Given the description of an element on the screen output the (x, y) to click on. 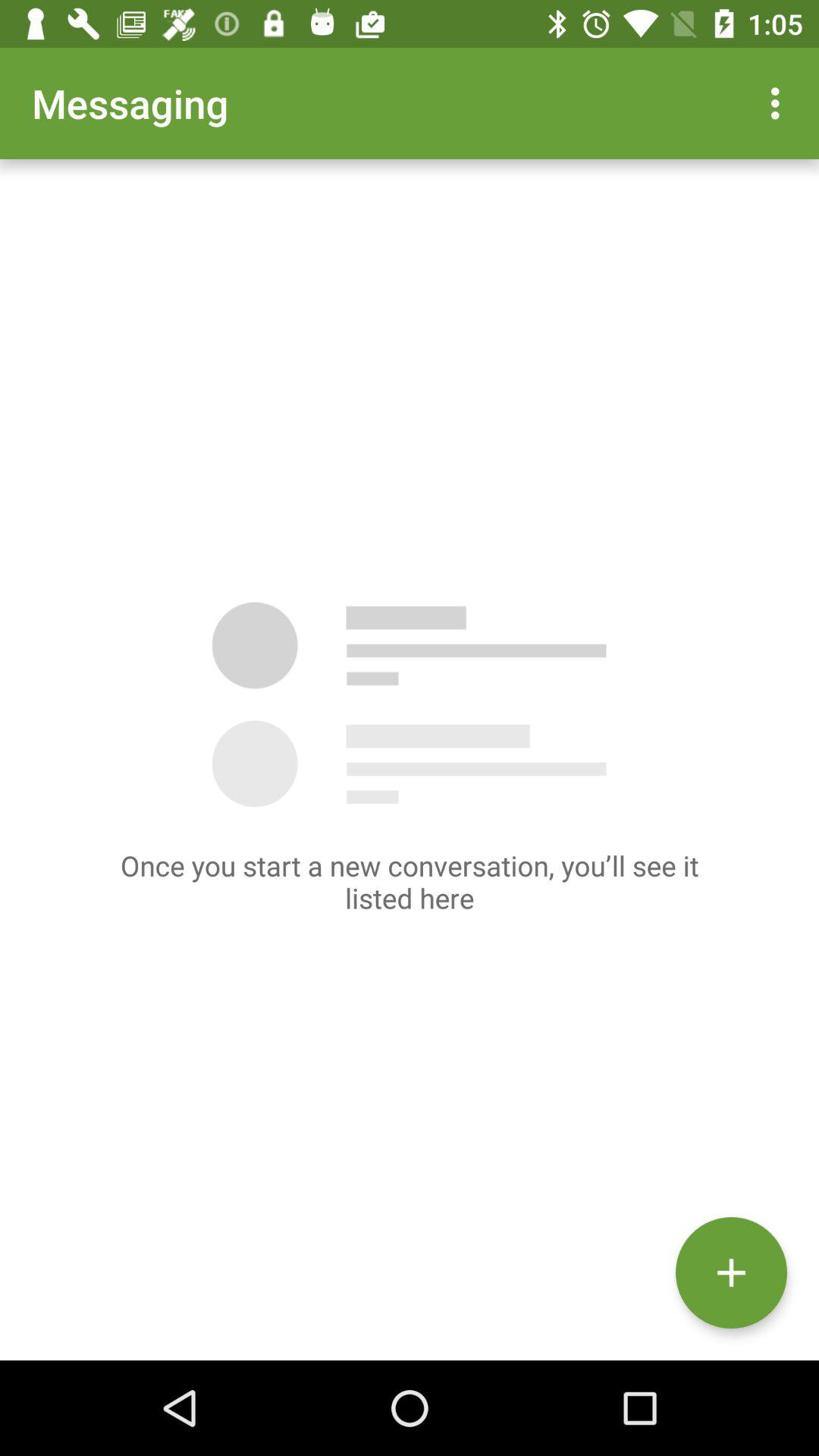
turn off the icon next to messaging icon (779, 103)
